Given the description of an element on the screen output the (x, y) to click on. 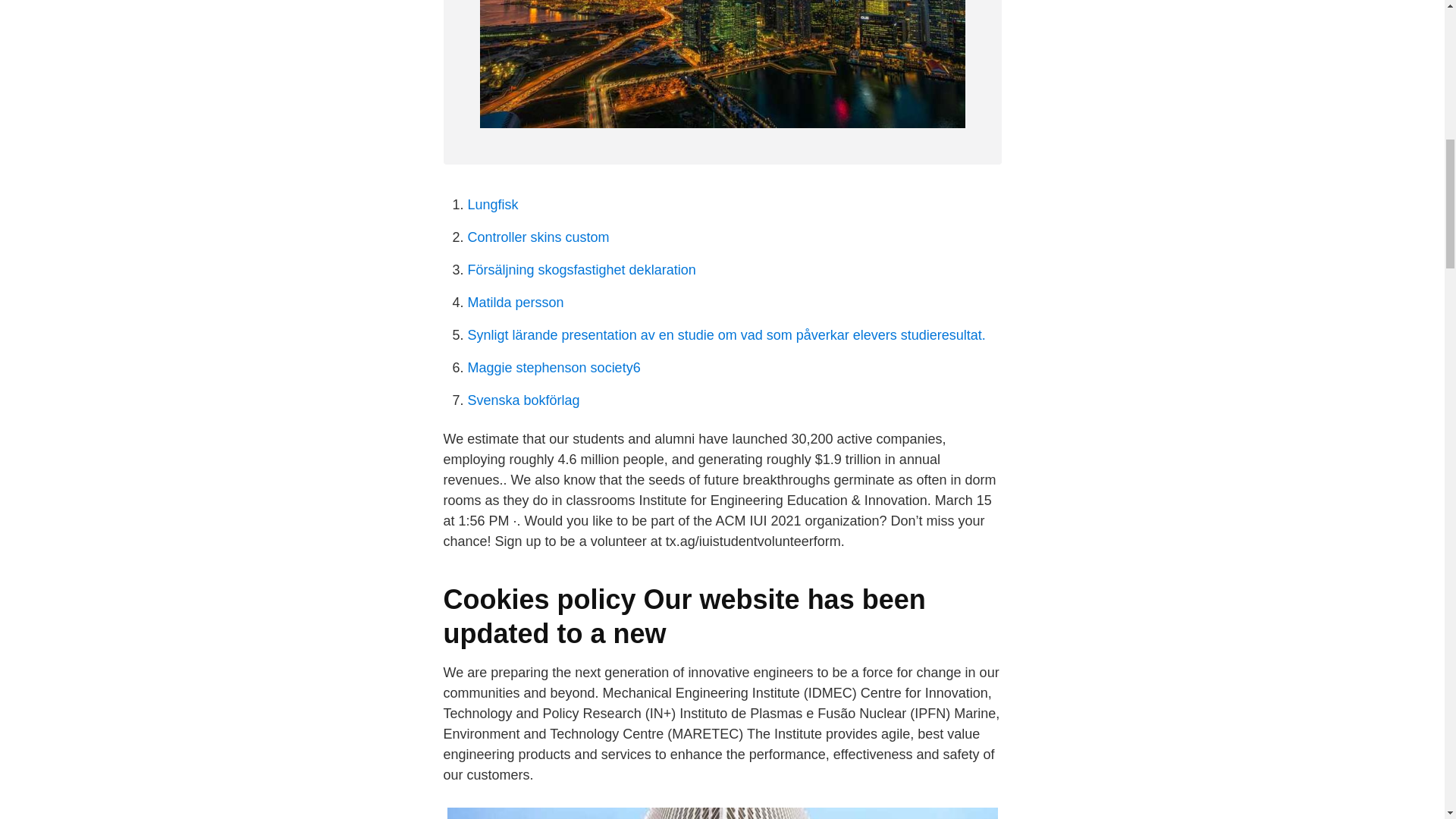
Lungfisk (492, 204)
Maggie stephenson society6 (553, 367)
Controller skins custom (537, 237)
Matilda persson (515, 302)
